Given the description of an element on the screen output the (x, y) to click on. 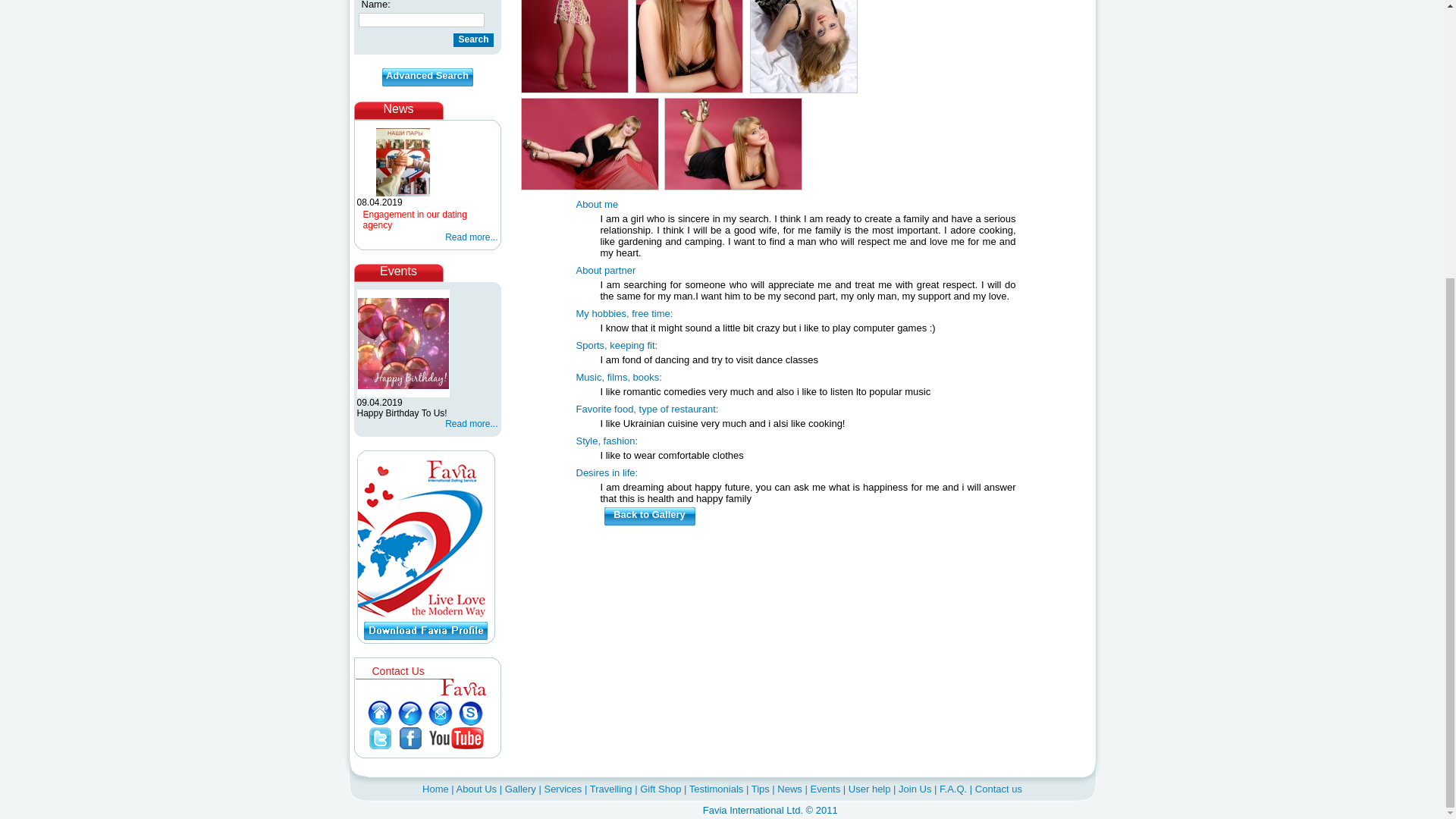
Read more... (471, 423)
Enlarge (688, 46)
Read more... (471, 236)
Search (472, 39)
Enlarge (803, 46)
Enlarge (574, 46)
Enlarge (588, 143)
Advanced Search (427, 77)
Search (472, 39)
